Given the description of an element on the screen output the (x, y) to click on. 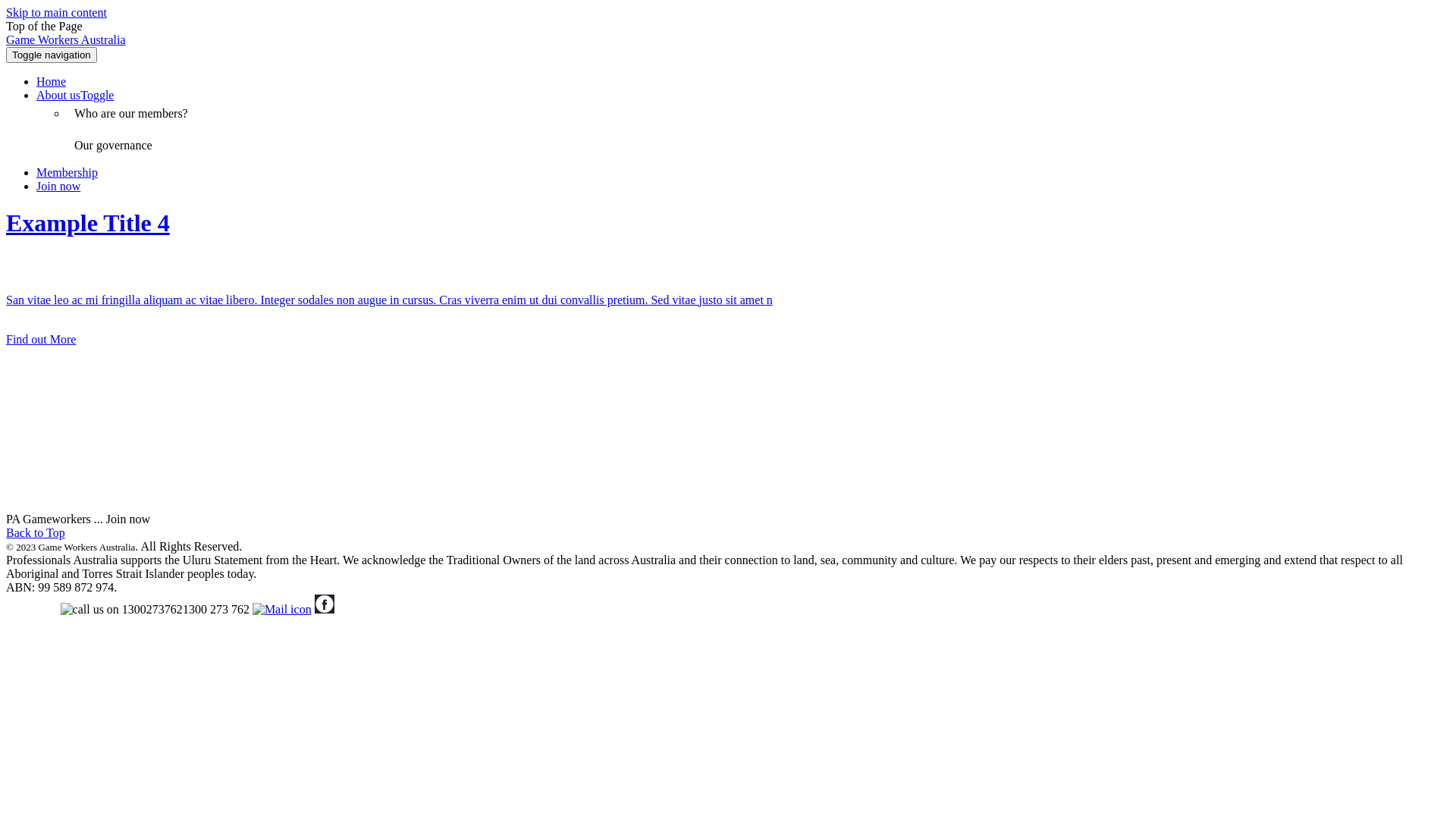
About usToggle Element type: text (74, 94)
Membership Element type: text (66, 172)
Visit our Twitter page Element type: hover (344, 608)
Contact Us Element type: text (33, 608)
Toggle navigation Element type: text (51, 54)
Game Workers Australia Element type: text (65, 39)
Our governance Element type: text (113, 145)
Email us Element type: hover (281, 608)
Visit our Facebook page Element type: hover (324, 608)
Join now Element type: text (58, 185)
Top of the Page Element type: text (44, 25)
Who are our members? Element type: text (130, 113)
Back to Top Element type: text (35, 532)
Home Element type: text (50, 81)
Skip to main content Element type: text (56, 12)
